Given the description of an element on the screen output the (x, y) to click on. 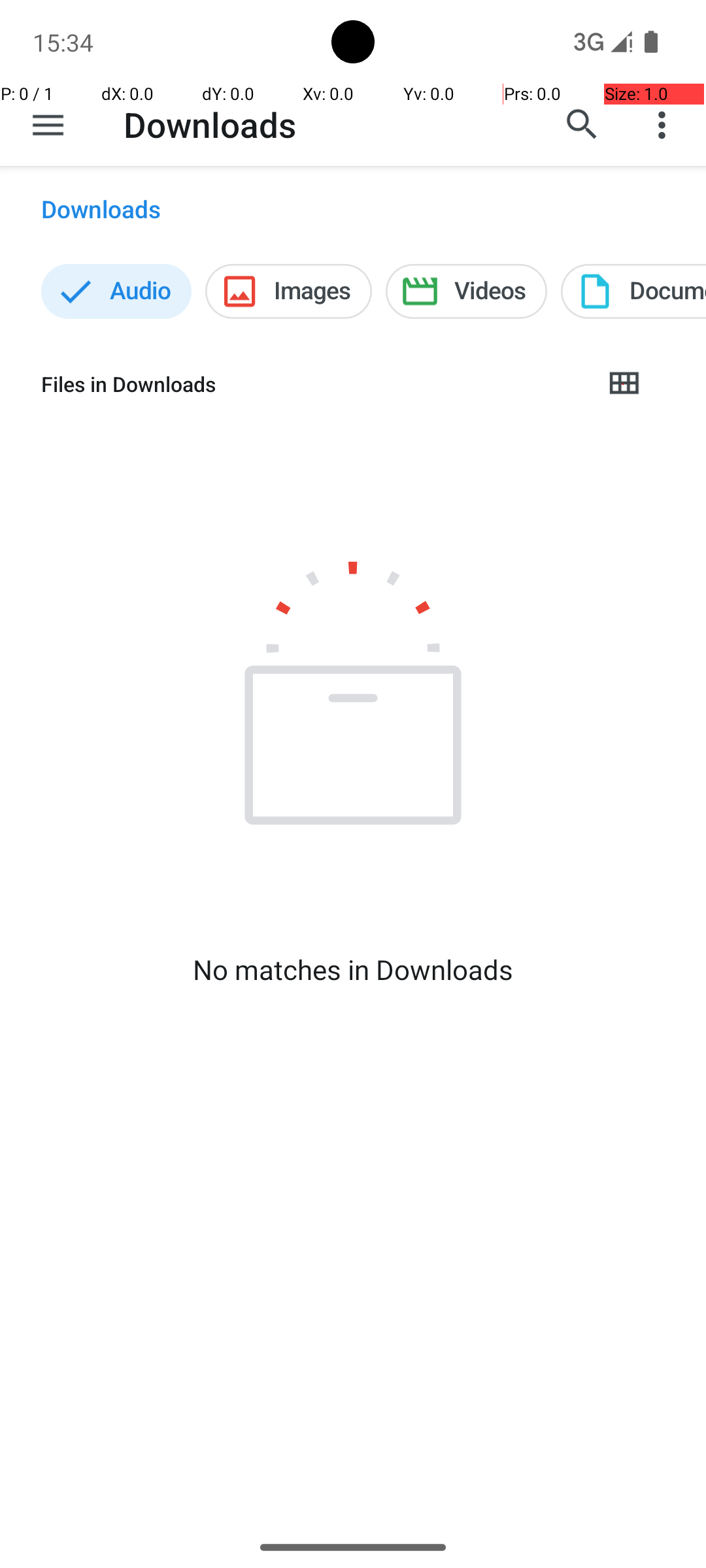
Grid view Element type: android.widget.TextView (622, 384)
